Given the description of an element on the screen output the (x, y) to click on. 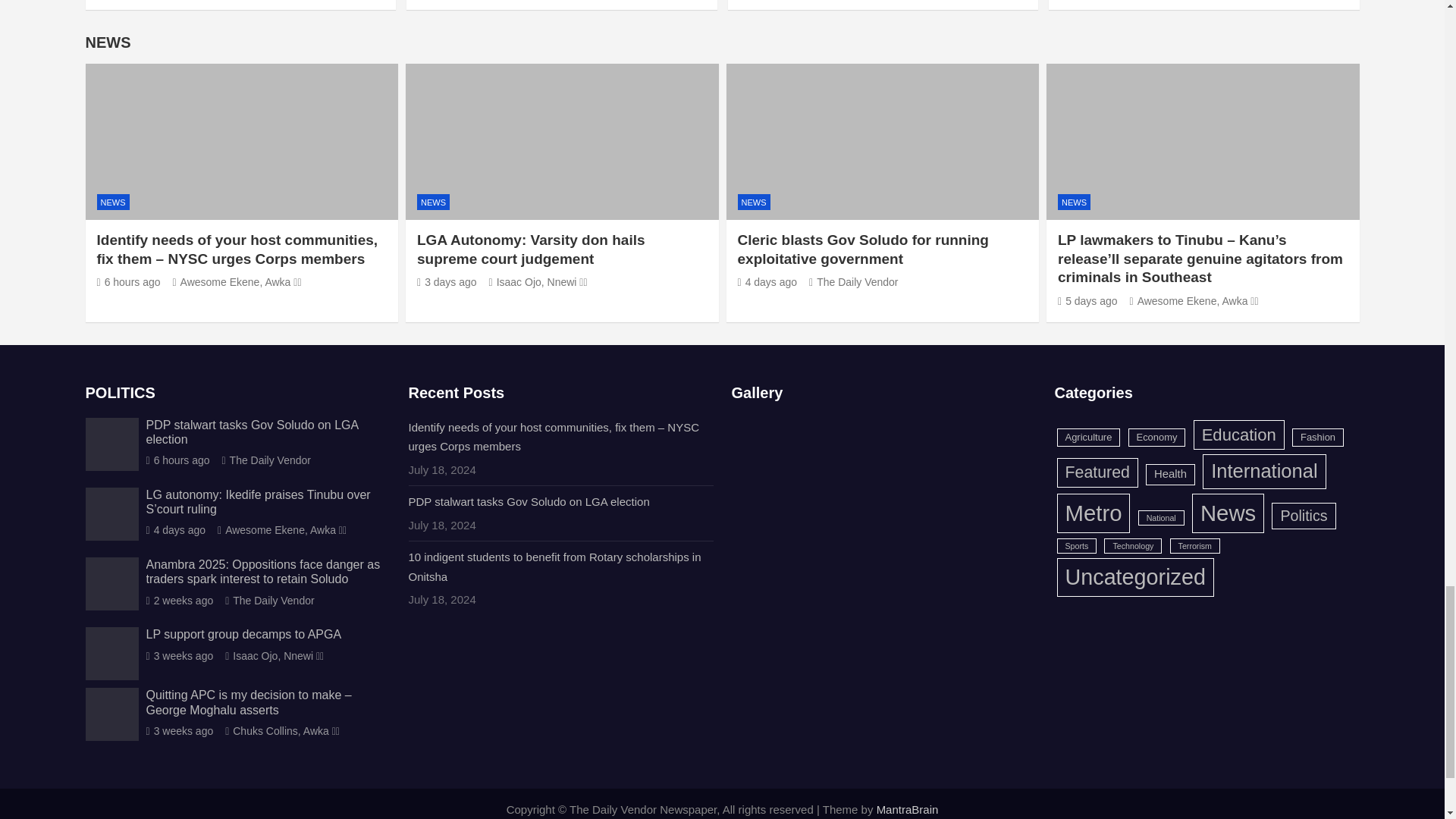
Cleric blasts Gov Soludo for running exploitative government (766, 282)
LGA Autonomy: Varsity don hails supreme court judgement (446, 282)
